Given the description of an element on the screen output the (x, y) to click on. 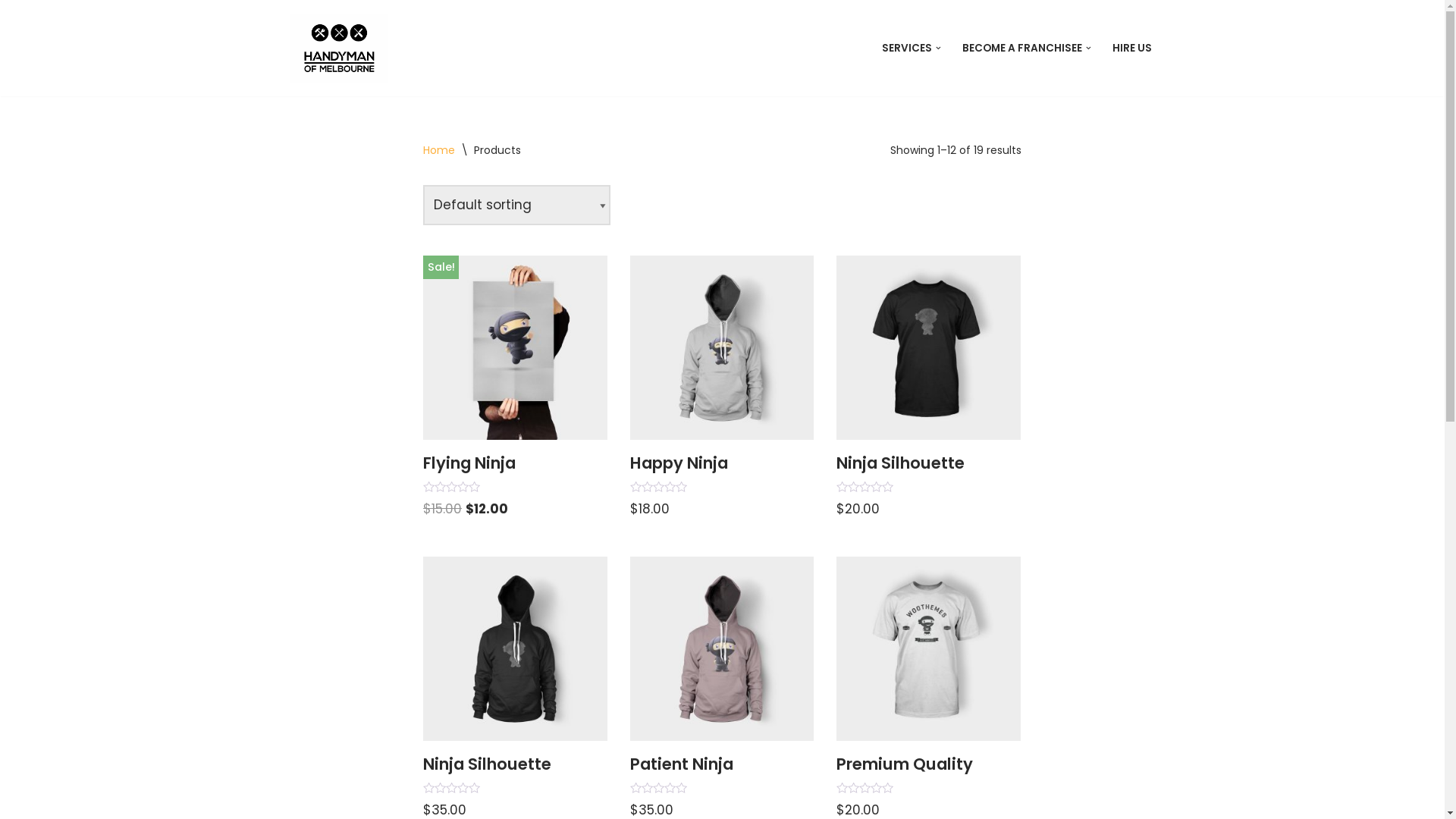
HIRE US Element type: text (1131, 47)
Skip to content Element type: text (11, 31)
BECOME A FRANCHISEE Element type: text (1022, 47)
SERVICES Element type: text (906, 47)
Home Element type: text (439, 149)
Ninja Silhouette
$20.00 Element type: text (928, 387)
Sale!
Flying Ninja
$15.00 $12.00 Element type: text (515, 387)
Happy Ninja
$18.00 Element type: text (722, 387)
